Given the description of an element on the screen output the (x, y) to click on. 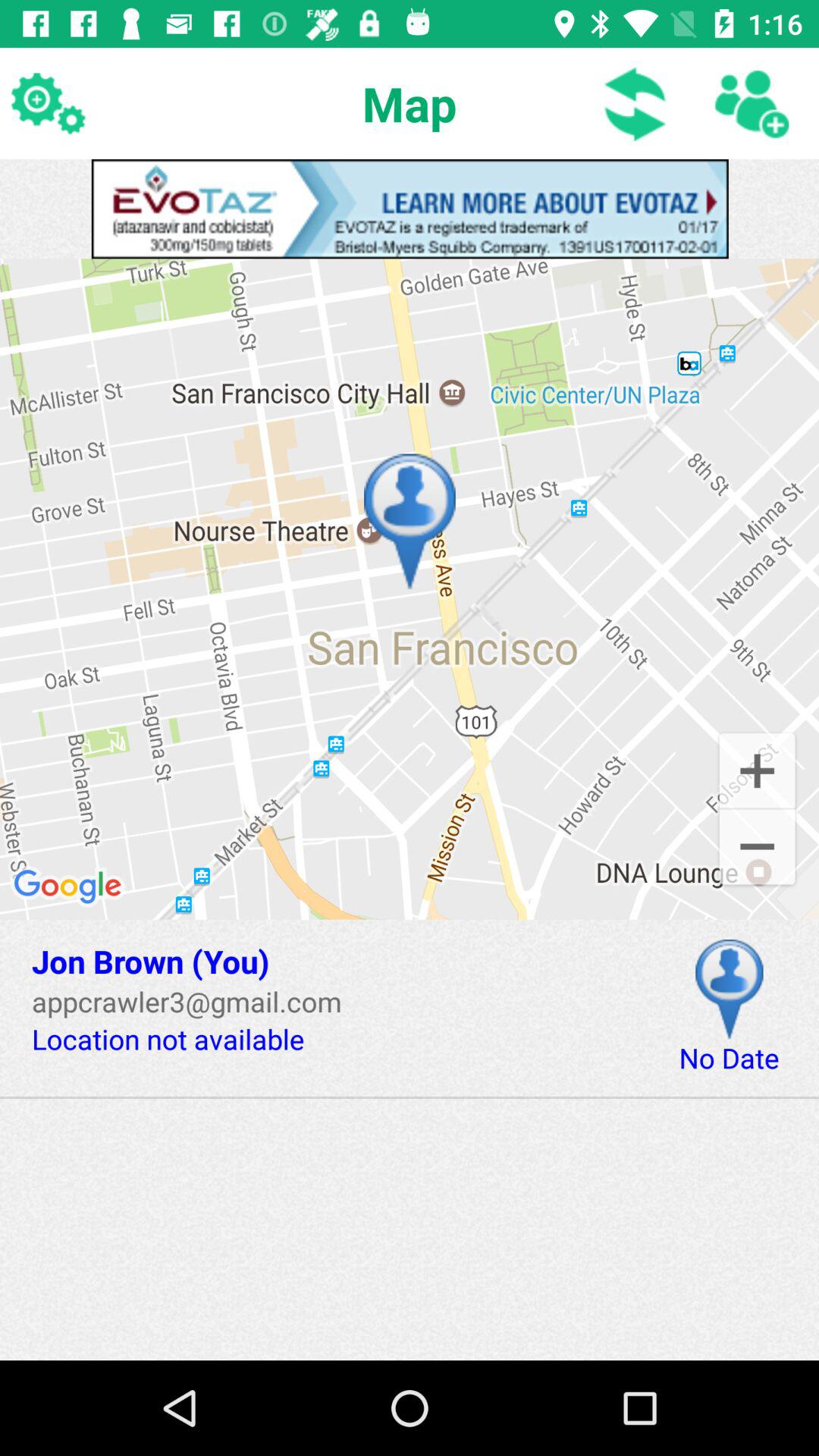
add contact (751, 103)
